Given the description of an element on the screen output the (x, y) to click on. 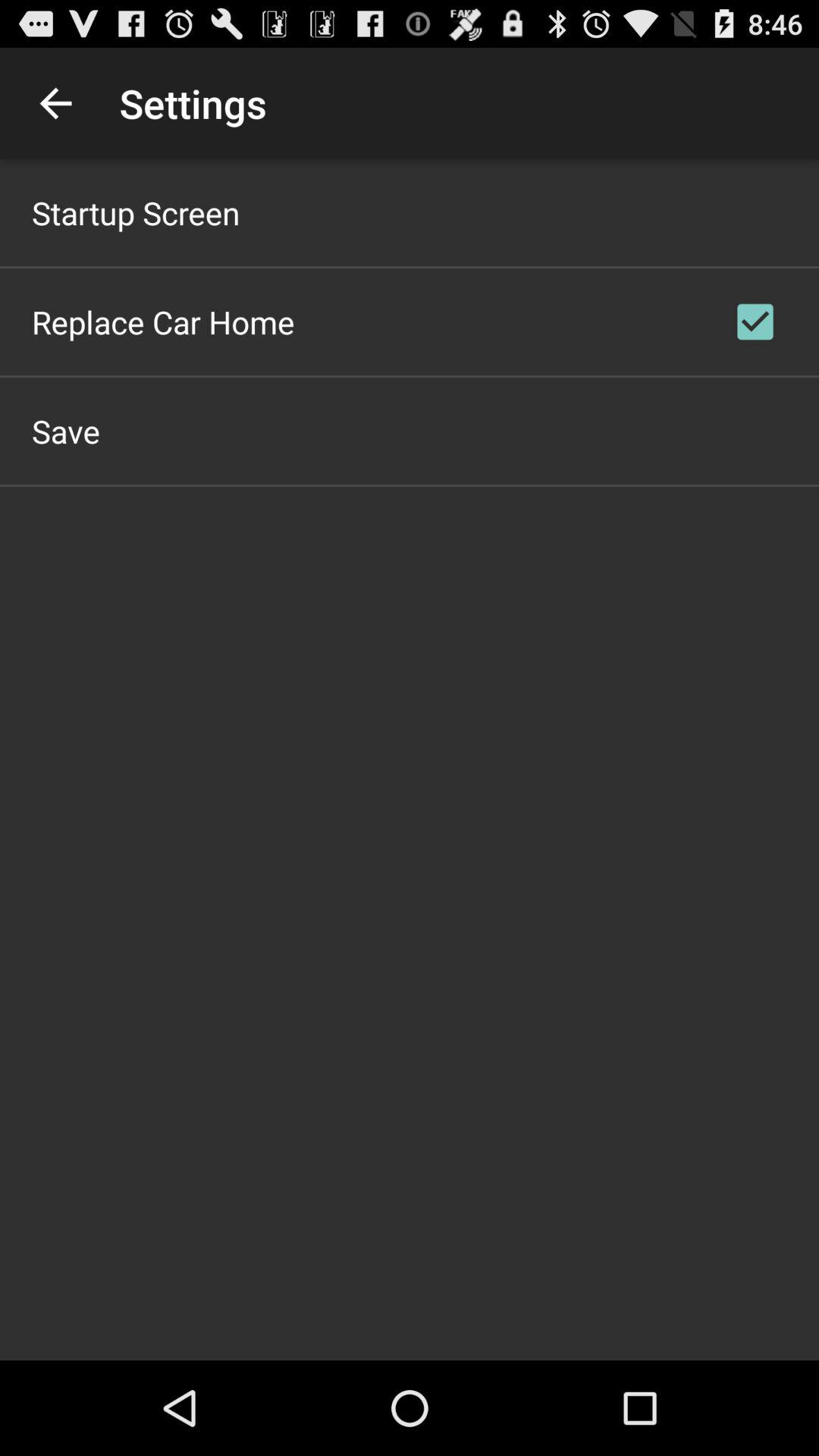
launch the icon to the right of replace car home icon (755, 321)
